Given the description of an element on the screen output the (x, y) to click on. 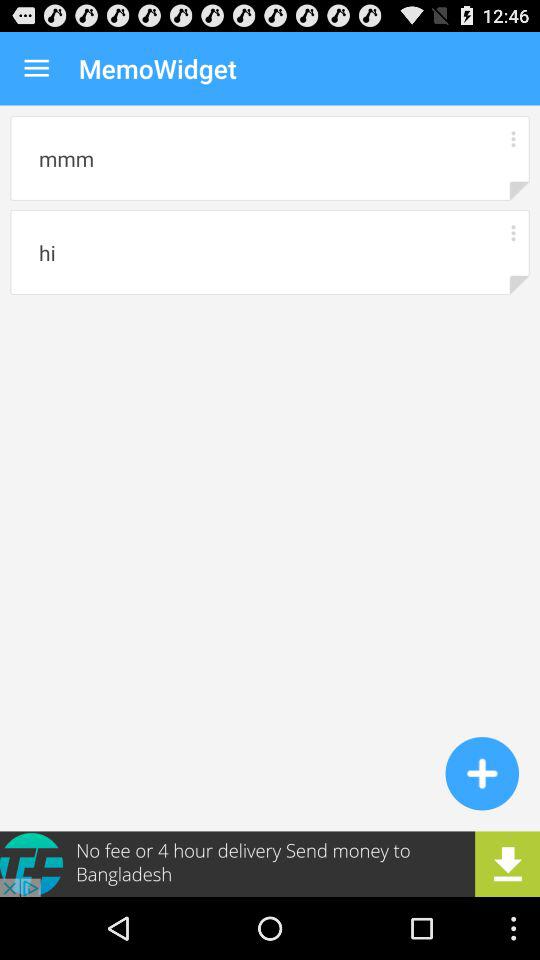
advertising area (270, 864)
